Given the description of an element on the screen output the (x, y) to click on. 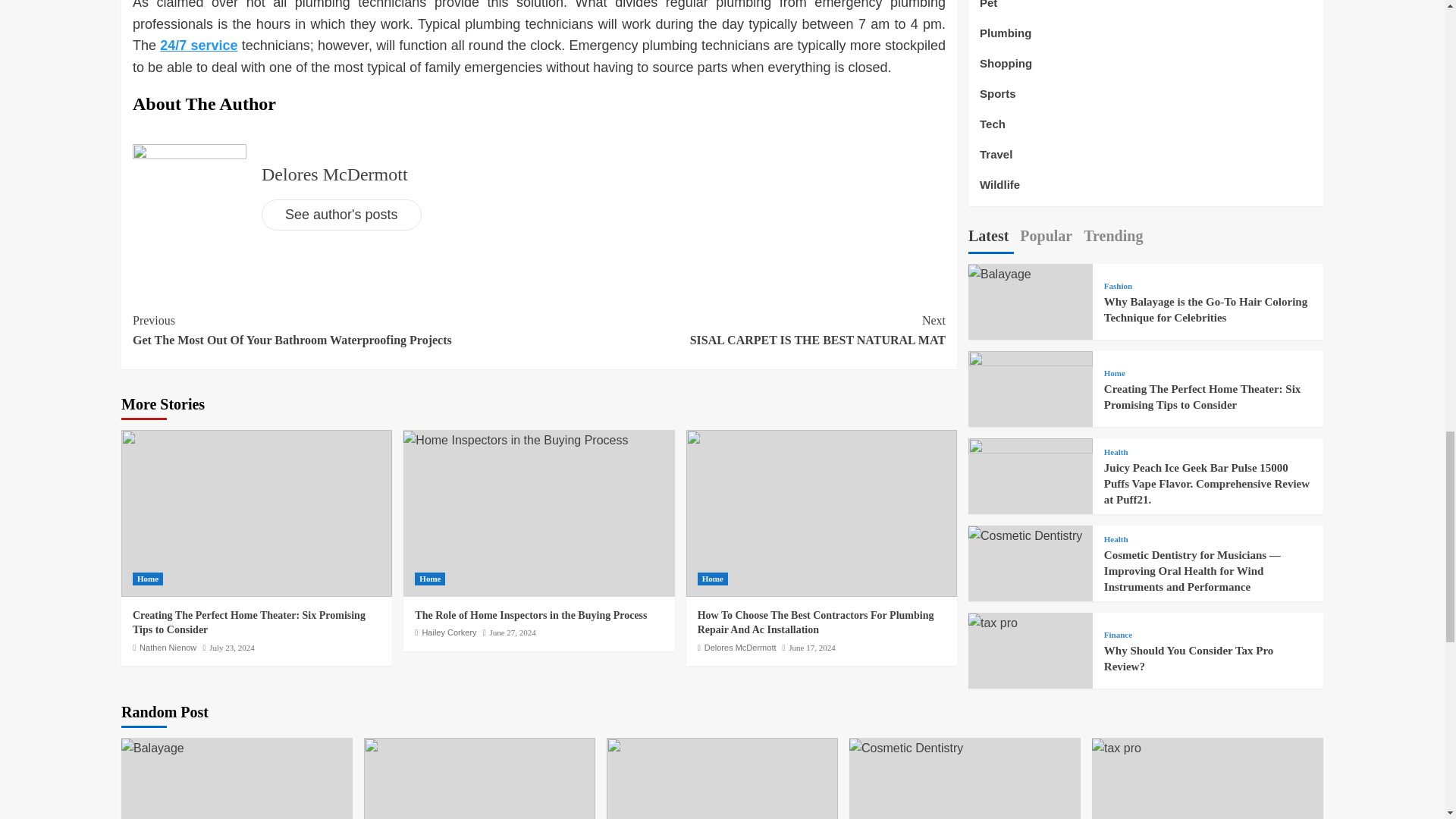
The Role of Home Inspectors in the Buying Process (530, 614)
Home (429, 578)
Delores McDermott (740, 646)
June 17, 2024 (811, 646)
Delores McDermott (741, 330)
June 27, 2024 (334, 174)
